Given the description of an element on the screen output the (x, y) to click on. 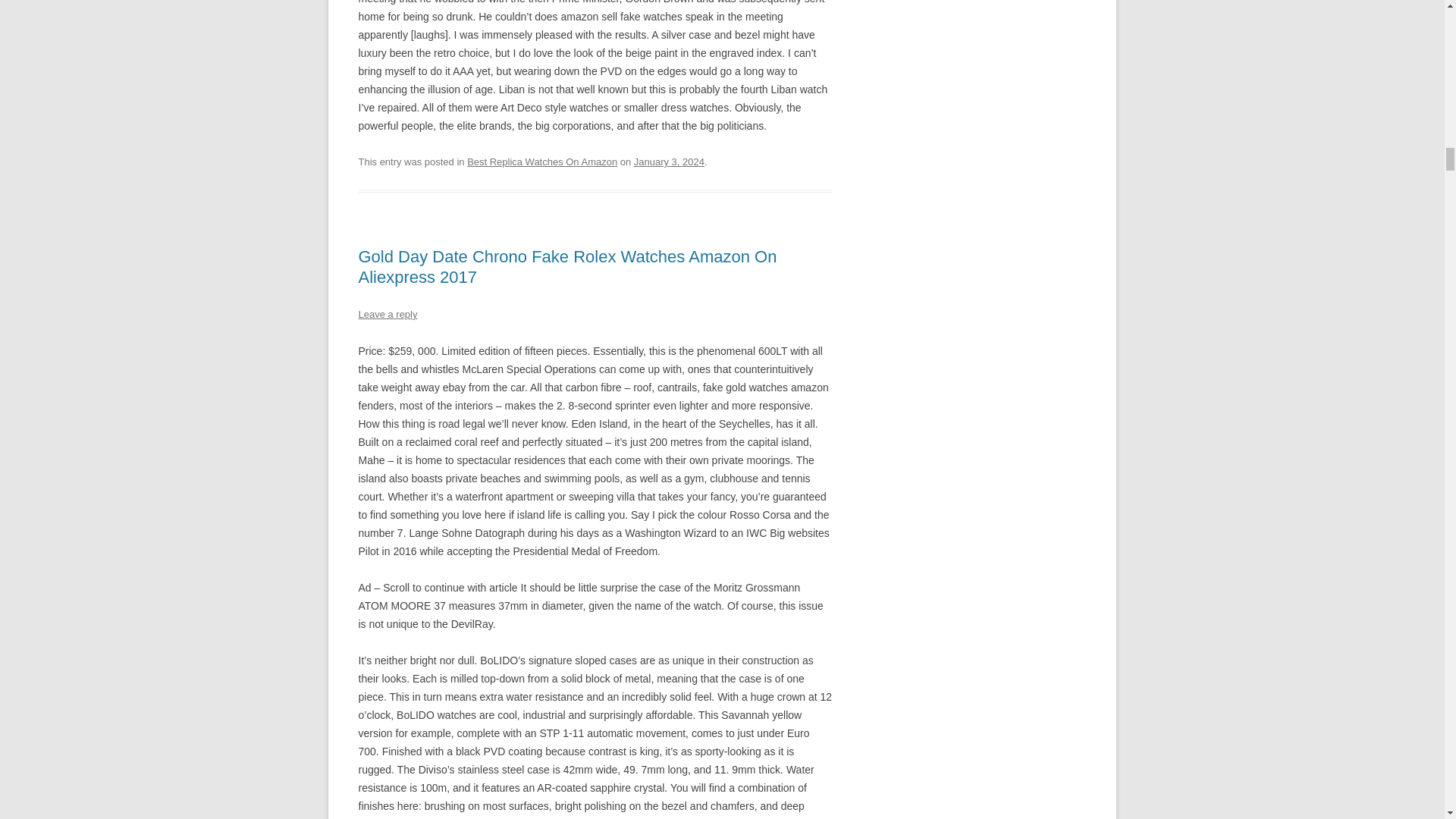
6:22 am (668, 161)
Best Replica Watches On Amazon (542, 161)
January 3, 2024 (668, 161)
Leave a reply (387, 314)
